Given the description of an element on the screen output the (x, y) to click on. 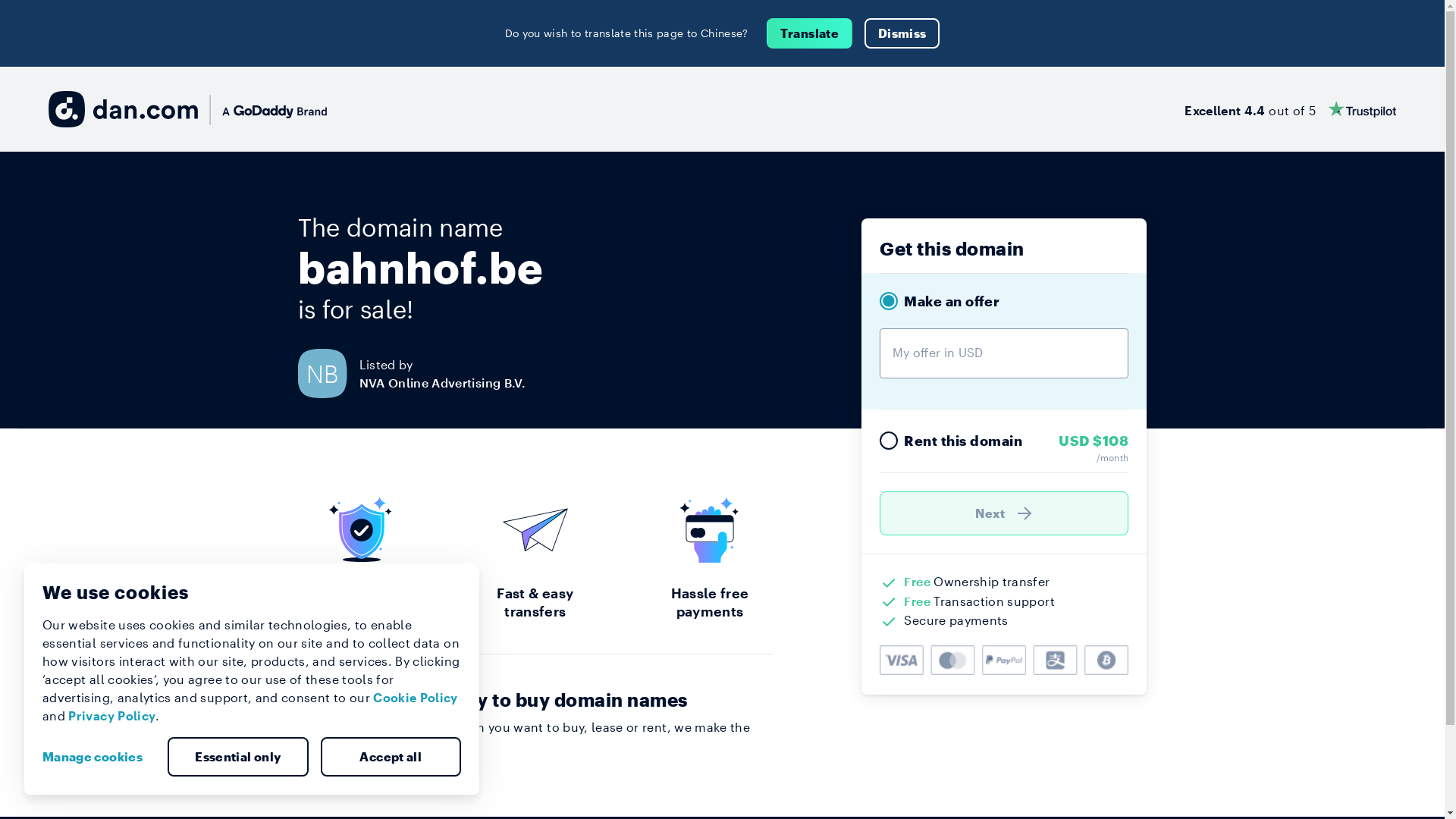
Essential only Element type: text (237, 756)
Excellent 4.4 out of 5 Element type: text (1290, 109)
Manage cookies Element type: text (98, 756)
Accept all Element type: text (390, 756)
Privacy Policy Element type: text (111, 715)
Translate Element type: text (809, 33)
Cookie Policy Element type: text (415, 697)
Next
) Element type: text (1003, 513)
Dismiss Element type: text (901, 33)
